Given the description of an element on the screen output the (x, y) to click on. 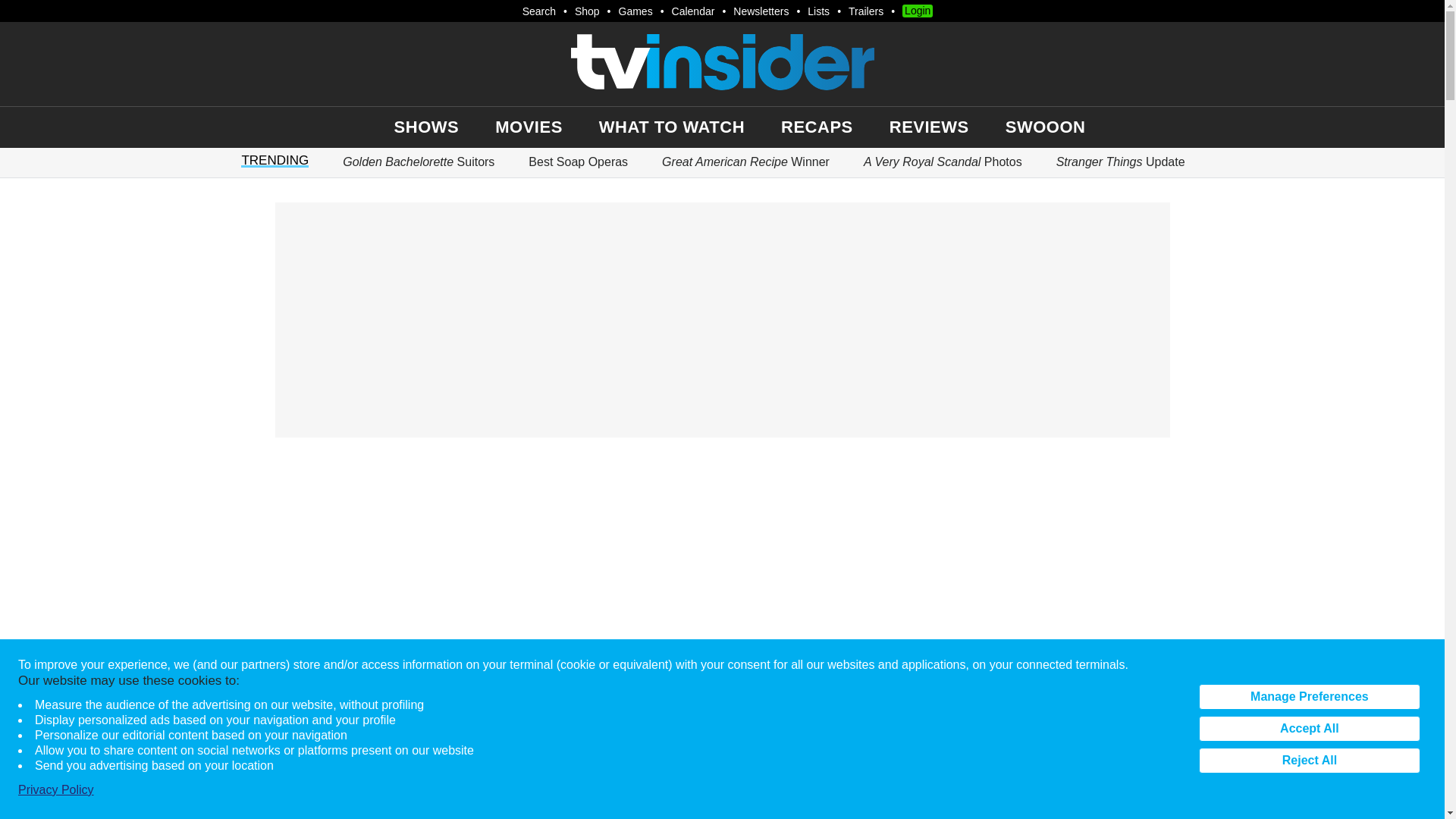
Newsletters (761, 10)
Shop (587, 10)
Accept All (1309, 728)
Search (534, 10)
Calendar (692, 10)
Trailers (865, 10)
Privacy Policy (55, 789)
Manage Preferences (1309, 696)
SHOWS (427, 127)
Reject All (1309, 760)
